Given the description of an element on the screen output the (x, y) to click on. 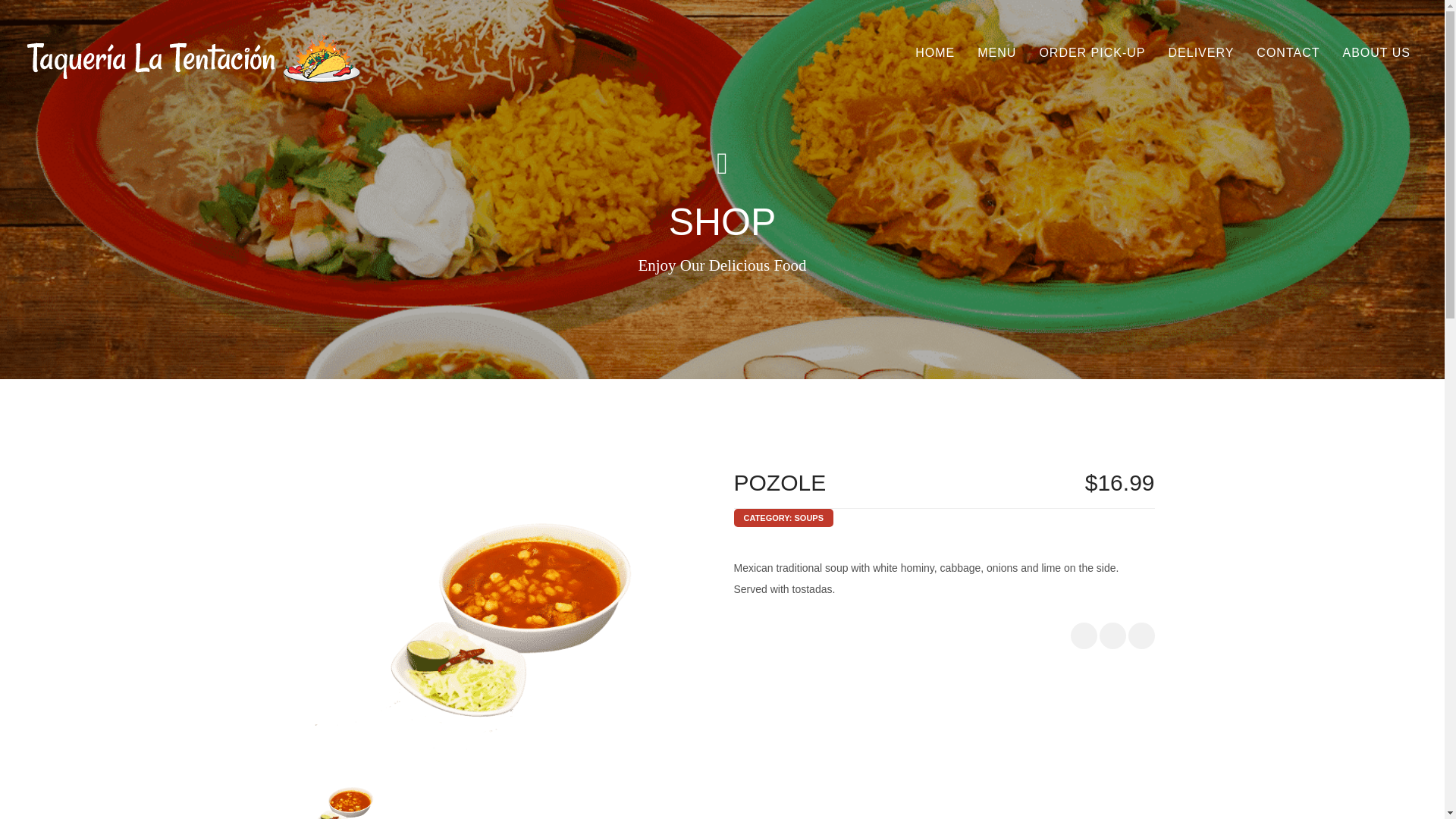
ORDER PICK-UP (1091, 53)
CONTACT (1287, 53)
SOUPS (809, 517)
Taqueria La Tentacion (194, 59)
MENU (996, 53)
DELIVERY (1201, 53)
HOME (935, 53)
pozole (500, 613)
ABOUT US (1377, 53)
pozole (342, 801)
